Given the description of an element on the screen output the (x, y) to click on. 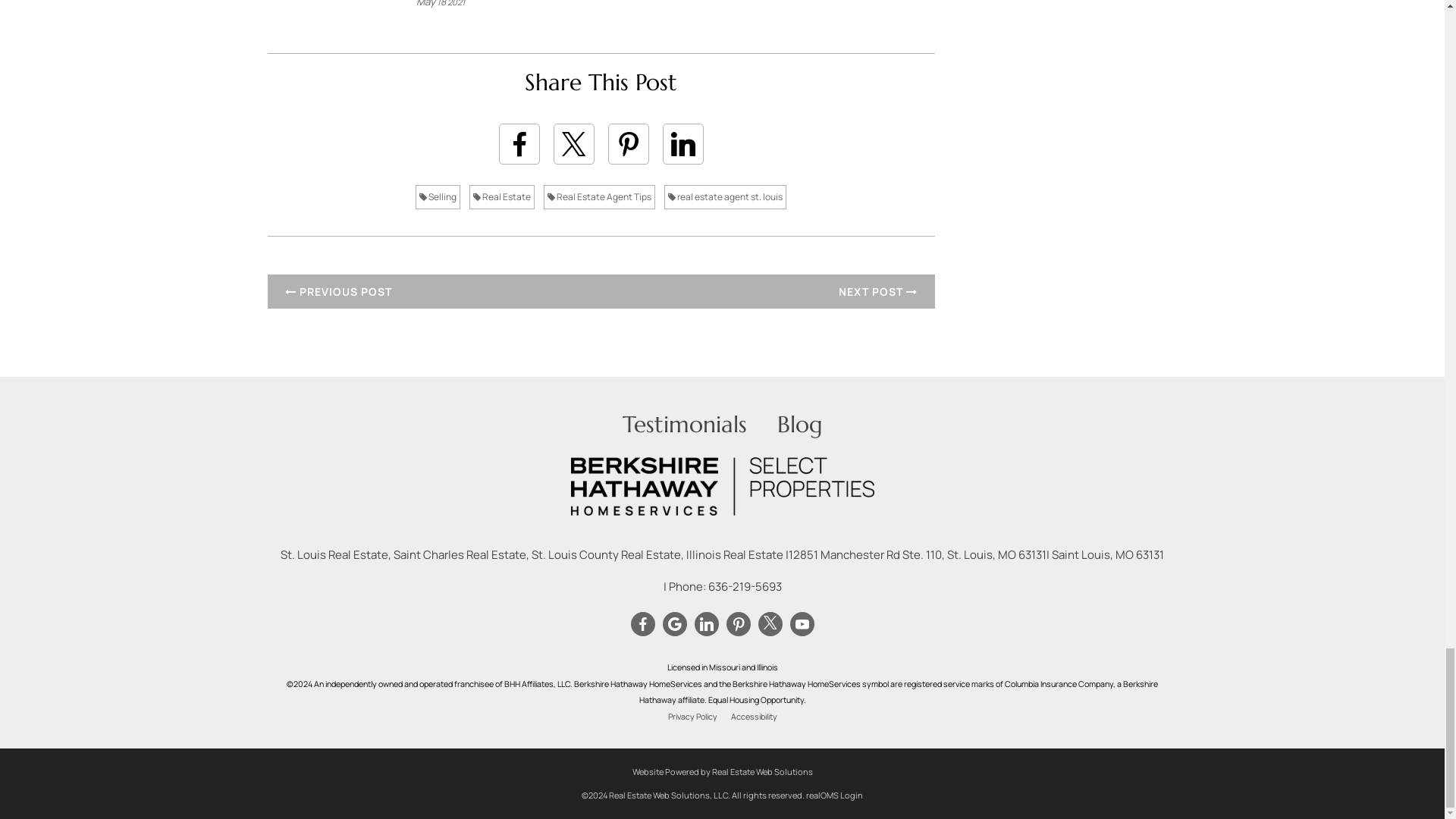
Visit me on Facebook (641, 623)
Share on Pinterest (628, 143)
Share on Linked In (682, 143)
Blog (799, 424)
Visit me on YouTube (801, 623)
Visit me on Pinterest (737, 623)
Share on X (573, 143)
Share on Facebook (519, 143)
Visit me on Google (673, 623)
Testimonials (683, 424)
Visit me on LinkedIn (705, 623)
